Given the description of an element on the screen output the (x, y) to click on. 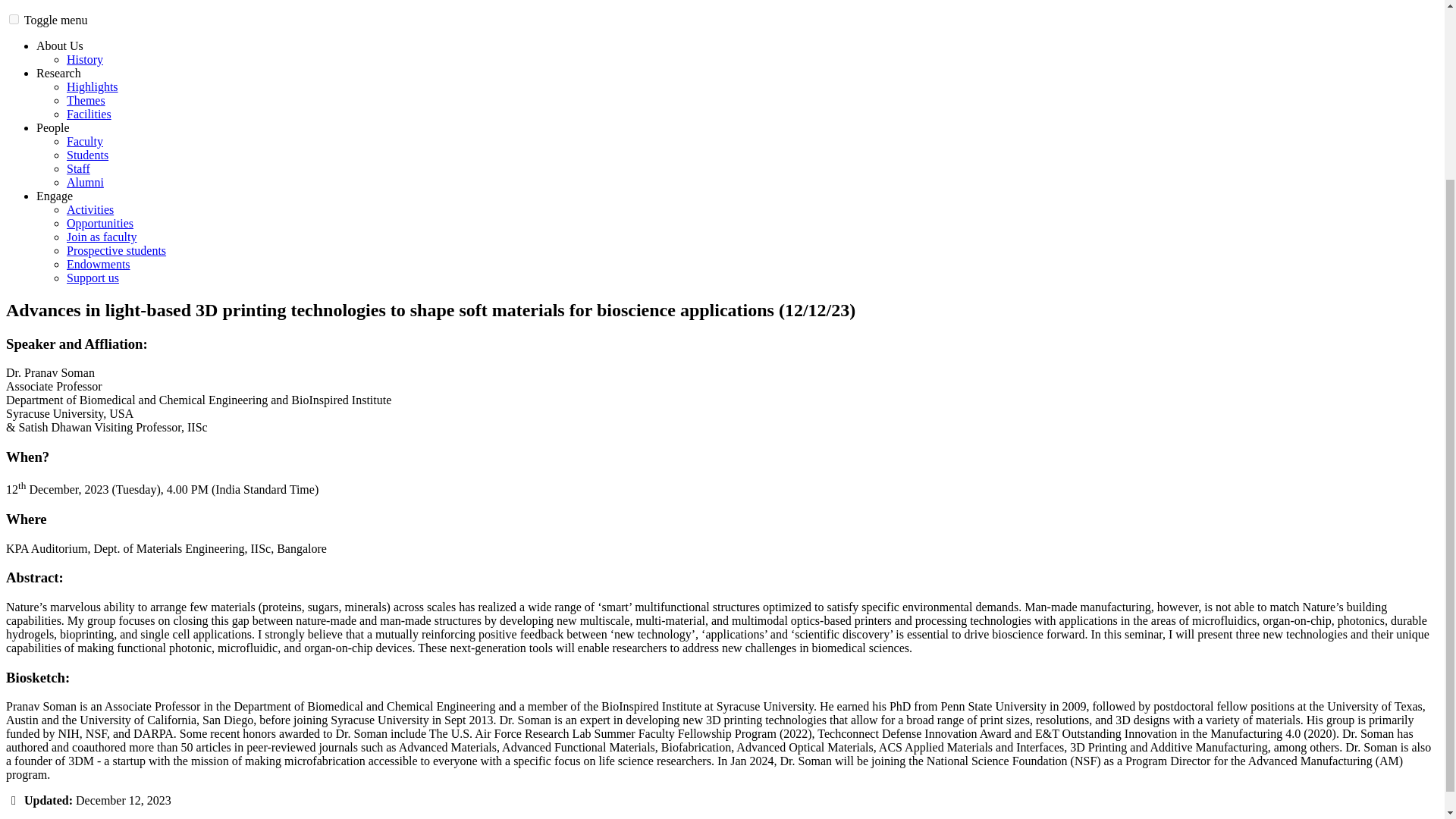
on (13, 19)
History (84, 59)
Alumni (84, 182)
Highlights (91, 86)
Students (86, 154)
Facilities (89, 113)
Support us (92, 277)
Prospective students (115, 250)
Opportunities (99, 223)
Join as faculty (101, 236)
Endowments (98, 264)
Staff (78, 168)
Faculty (84, 141)
Activities (89, 209)
Themes (85, 100)
